Given the description of an element on the screen output the (x, y) to click on. 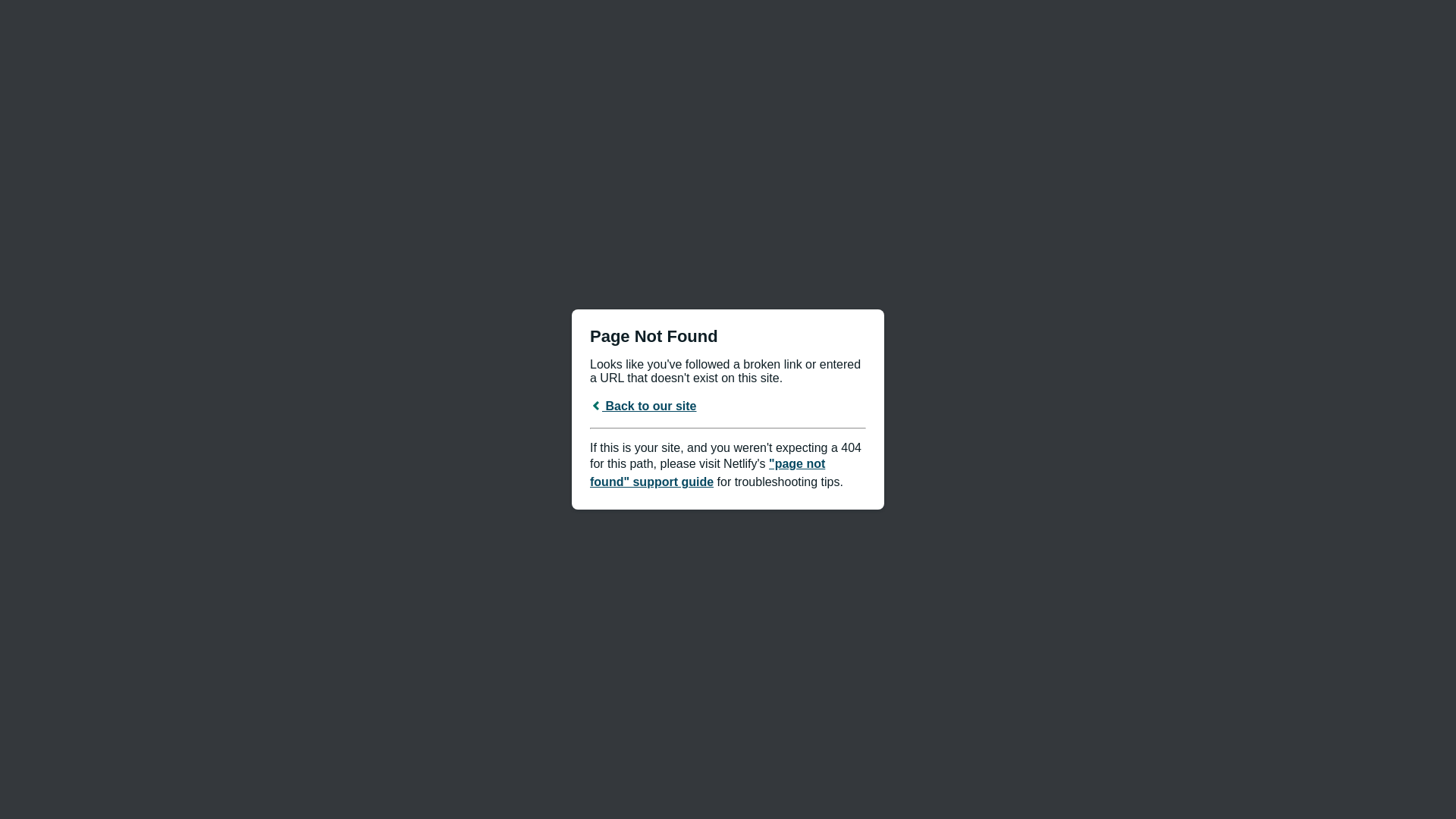
Back to our site Element type: text (642, 405)
"page not found" support guide Element type: text (707, 472)
